Given the description of an element on the screen output the (x, y) to click on. 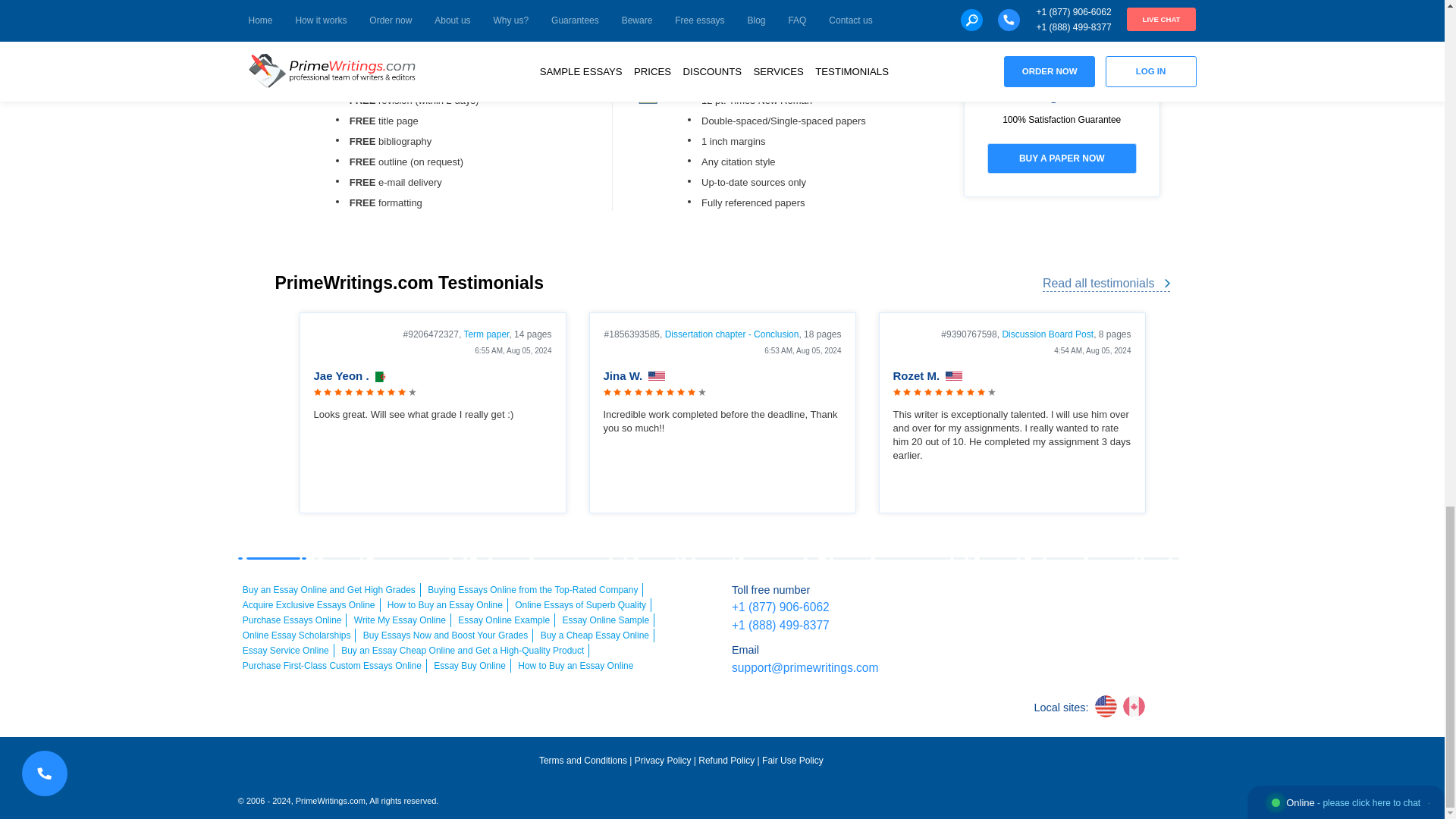
Apple pay (1133, 599)
Credit cards by Diners Club (1069, 629)
USA (656, 376)
Algeria (383, 376)
Credit cards by American Express (1091, 599)
USA (953, 376)
Credit cards by Discover (1176, 599)
Credit cards by JCB (1112, 629)
Credit and debit cards by MasterCard (1048, 599)
Credit and debit cards by Visa (1005, 599)
